Given the description of an element on the screen output the (x, y) to click on. 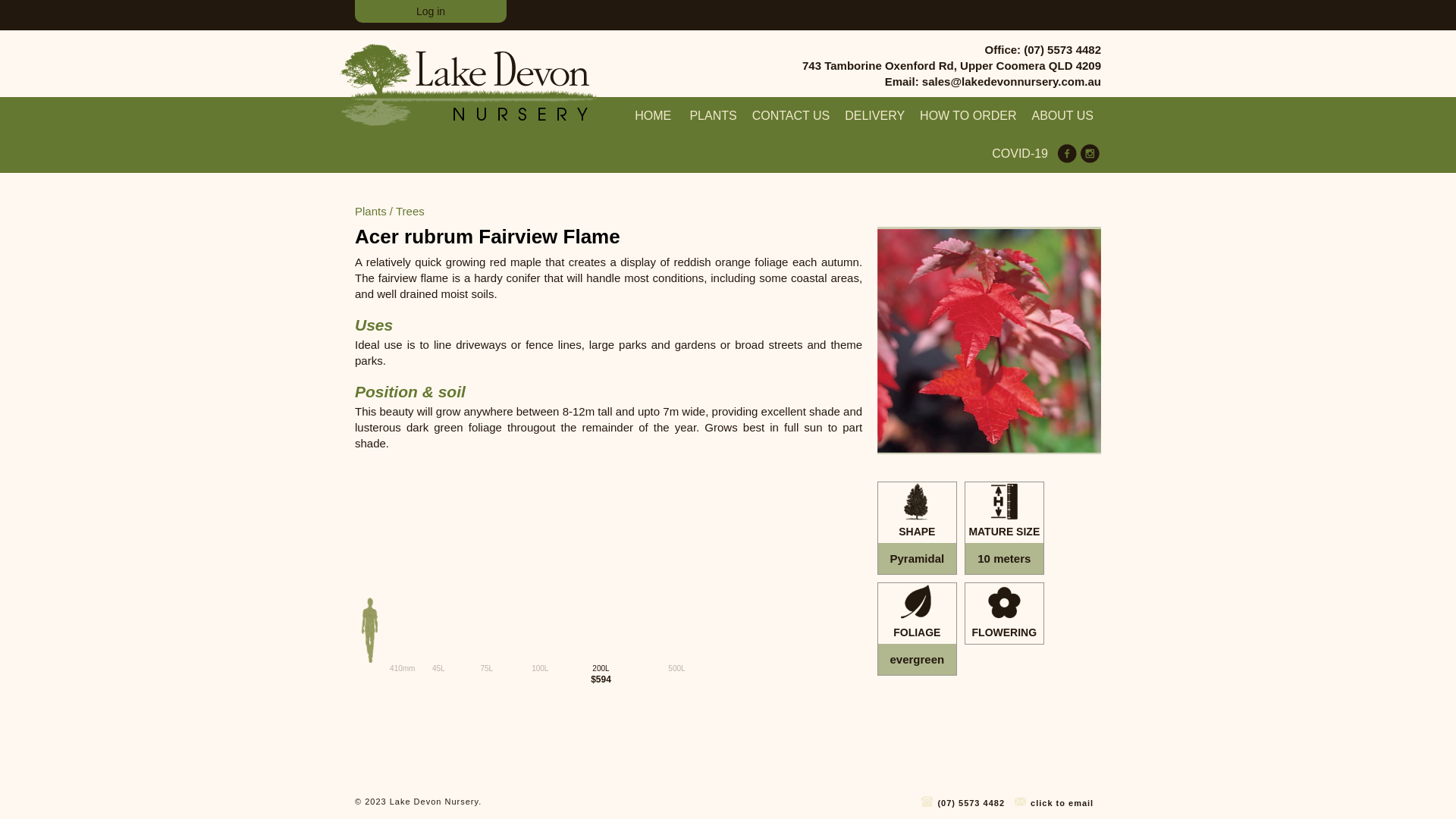
SHAPE
Pyramidal Element type: text (917, 527)
Office: (07) 5573 4482 Element type: text (951, 49)
743 Tamborine Oxenford Rd, Upper Coomera QLD 4209 Element type: text (951, 65)
MATURE SIZE
10 meters Element type: text (1004, 527)
PLANTS Element type: text (712, 115)
  Element type: text (495, 801)
DELIVERY Element type: text (874, 115)
ABOUT US Element type: text (1062, 115)
Email: sales@lakedevonnursery.com.au Element type: text (951, 81)
Log in Element type: text (430, 11)
FOLIAGE
evergreen Element type: text (917, 628)
click to email Element type: text (1052, 800)
FLOWERING Element type: text (1004, 613)
Plants Element type: text (370, 210)
Trees Element type: text (409, 210)
CONTACT US Element type: text (790, 115)
HOW TO ORDER Element type: text (967, 115)
COVID-19 Element type: text (1019, 153)
HOME Element type: text (652, 115)
(07) 5573 4482 Element type: text (961, 800)
